Given the description of an element on the screen output the (x, y) to click on. 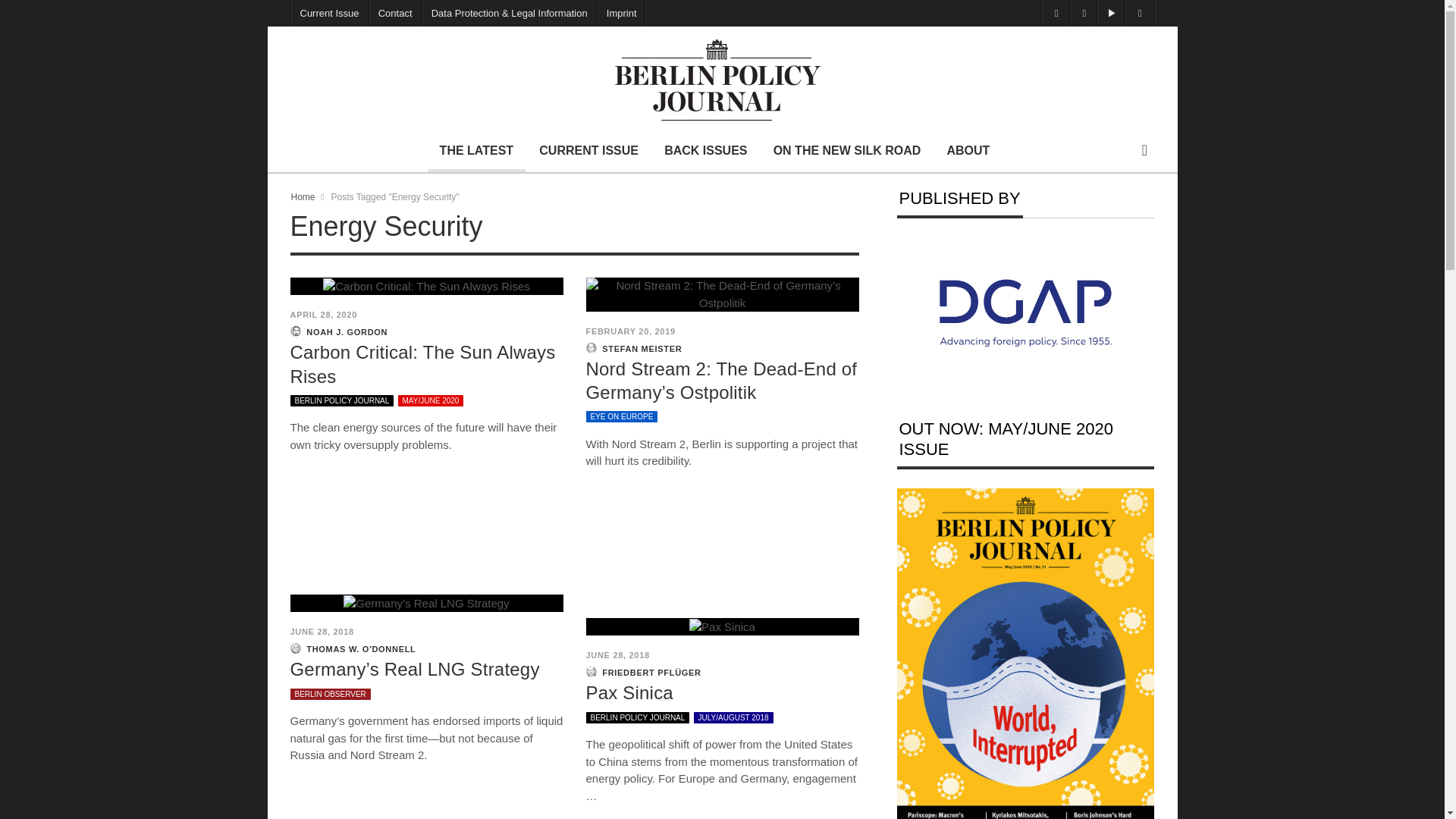
BERLIN POLICY JOURNAL (636, 717)
Pax Sinica (628, 692)
Current Issue (328, 13)
Carbon Critical: The Sun Always Rises (421, 363)
BERLIN POLICY JOURNAL (341, 400)
Carbon Critical: The Sun Always Rises (426, 286)
Carbon Critical: The Sun Always Rises (421, 363)
BACK ISSUES (705, 150)
Carbon Critical: The Sun Always Rises (426, 285)
Imprint (621, 13)
